Given the description of an element on the screen output the (x, y) to click on. 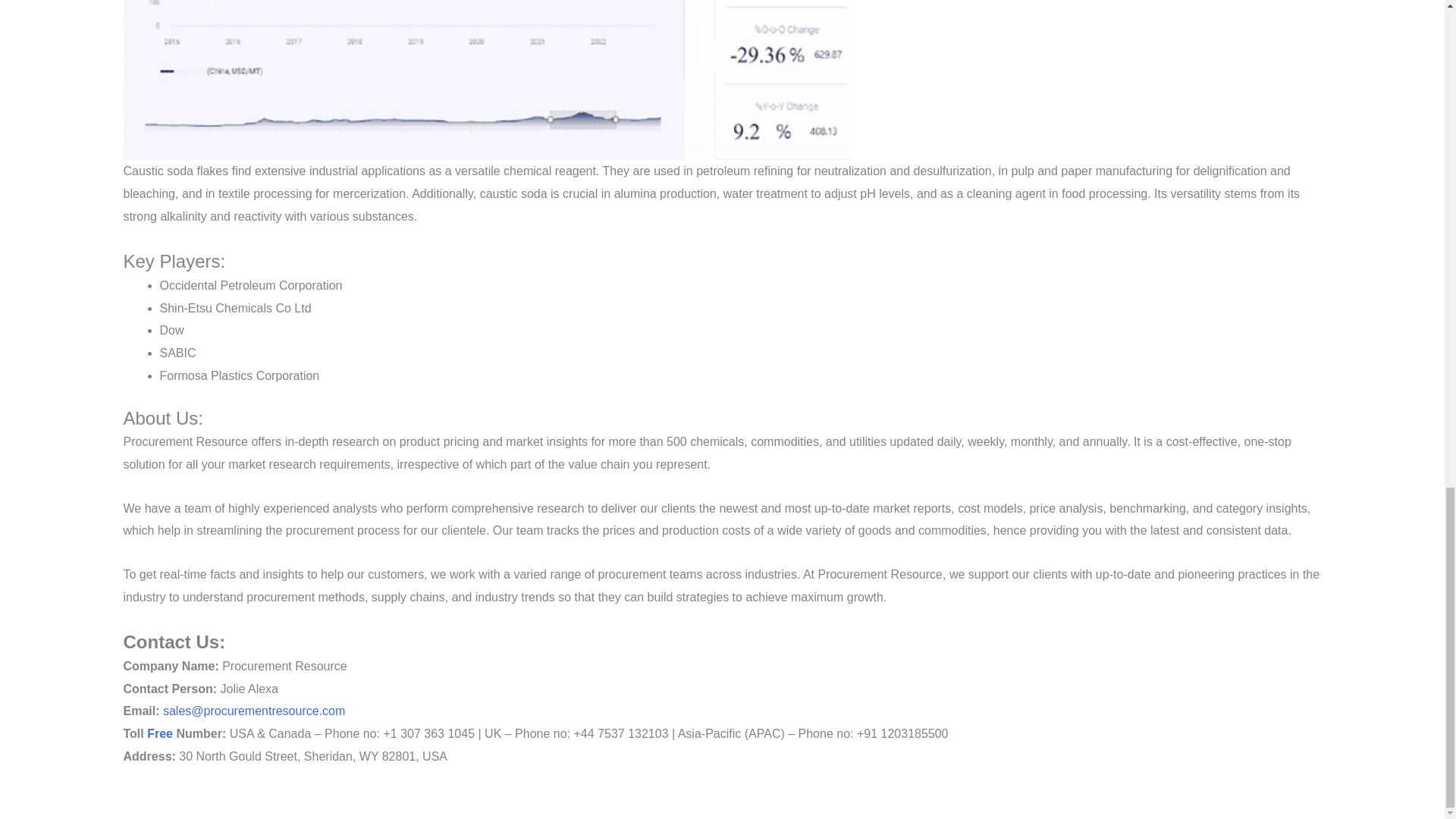
Free (160, 733)
Free (160, 733)
